Given the description of an element on the screen output the (x, y) to click on. 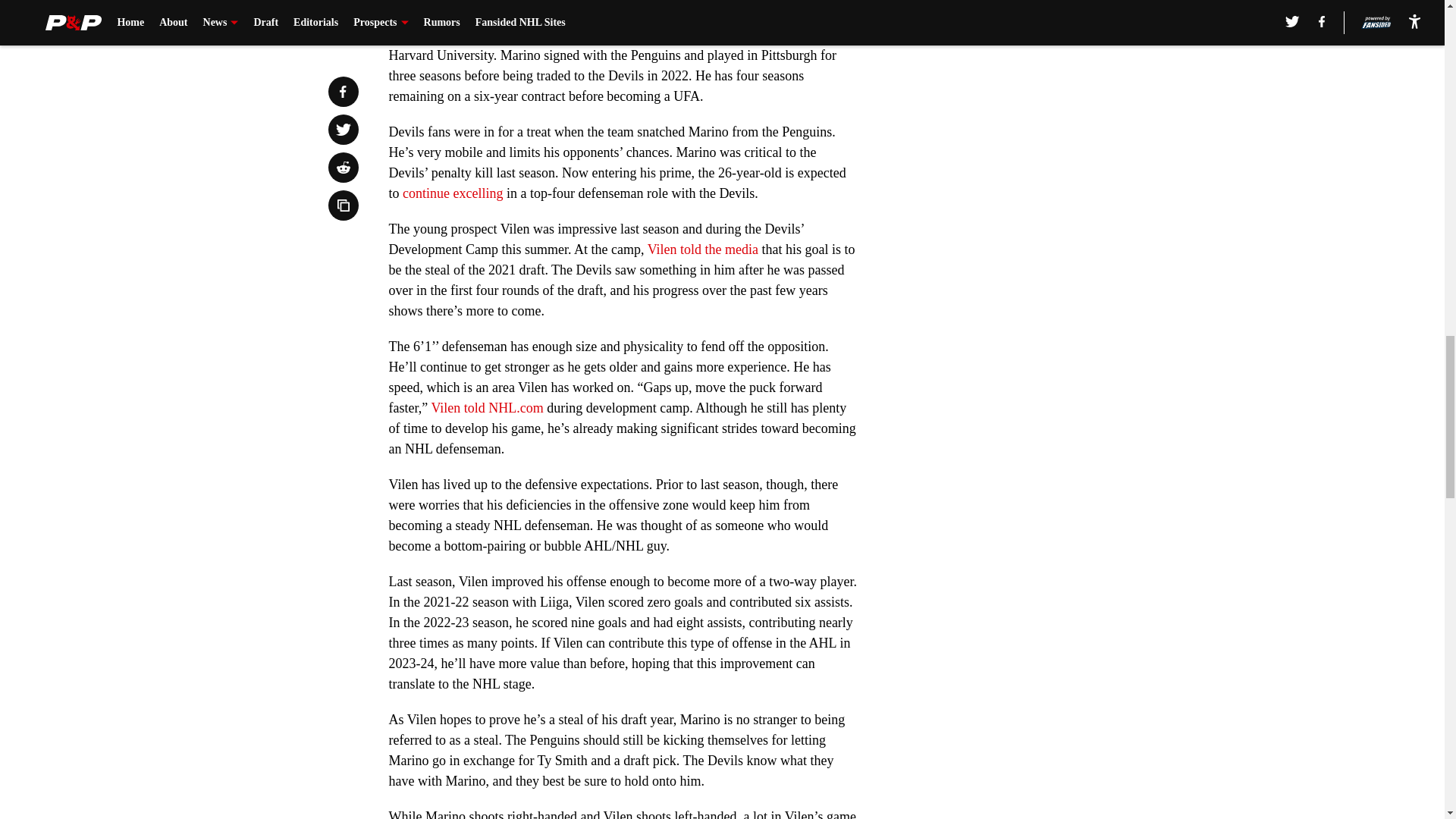
continue excelling (452, 192)
Vilen told the media (702, 249)
Vilen told NHL.com (486, 407)
